Given the description of an element on the screen output the (x, y) to click on. 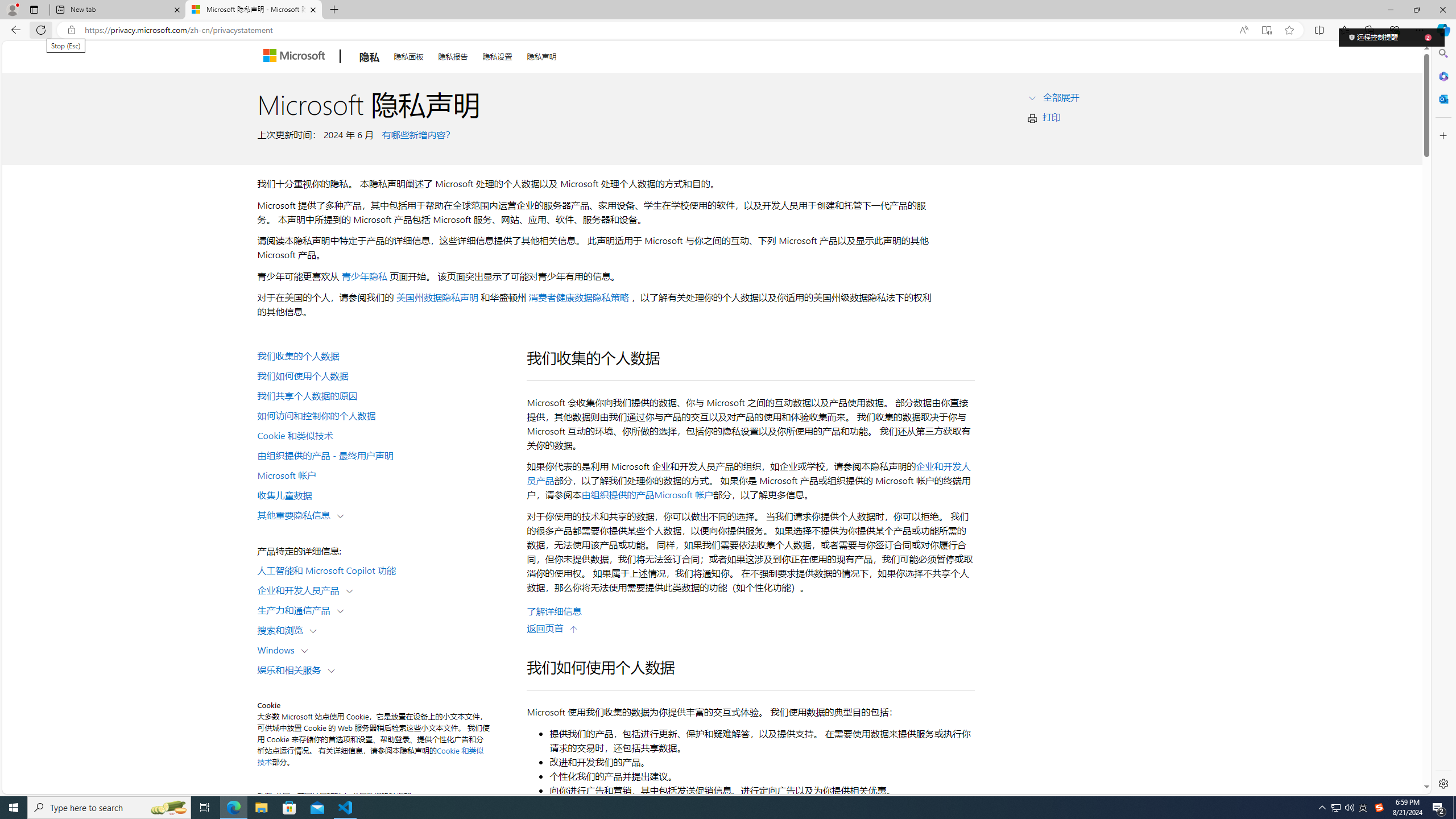
Microsoft 365 (1442, 76)
Enter Immersive Reader (F9) (1266, 29)
